Given the description of an element on the screen output the (x, y) to click on. 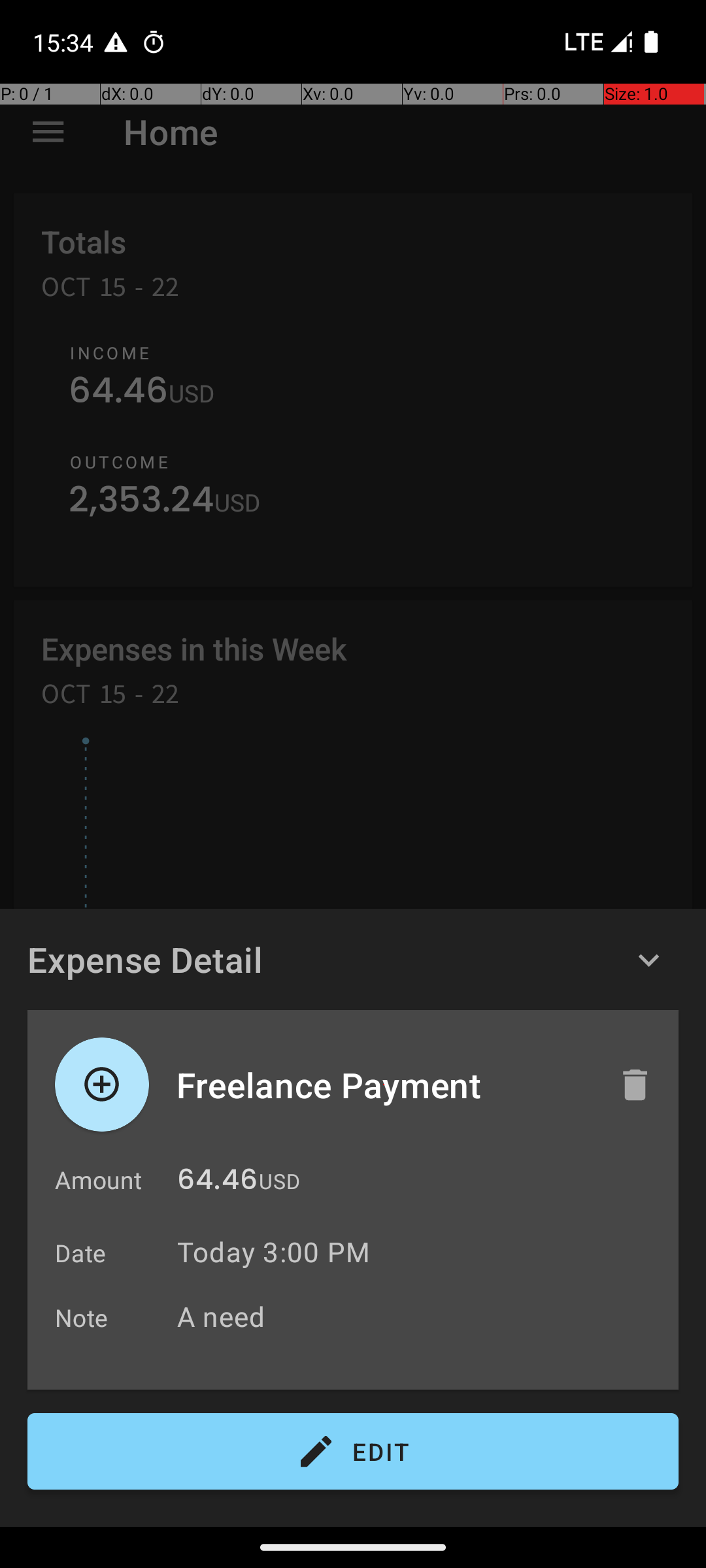
Expense Detail Element type: android.widget.TextView (145, 959)
Freelance Payment Element type: android.widget.TextView (383, 1084)
64.46 Element type: android.widget.TextView (217, 1182)
Date Element type: android.widget.TextView (80, 1252)
Today 3:00 PM Element type: android.widget.TextView (273, 1251)
A need Element type: android.widget.TextView (420, 1315)
EDIT Element type: android.widget.Button (352, 1451)
